Given the description of an element on the screen output the (x, y) to click on. 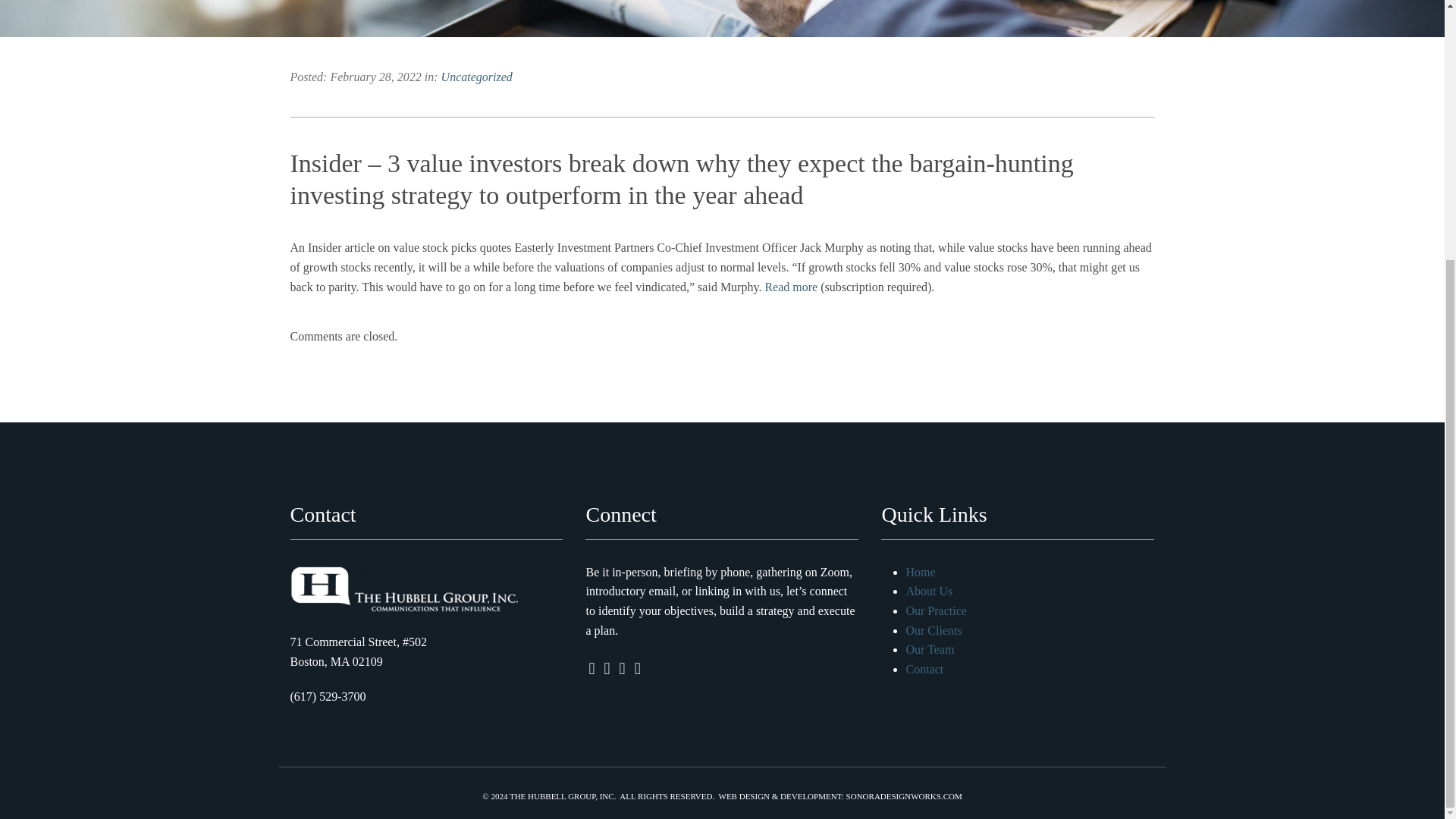
Our Clients (932, 630)
Read more (790, 286)
Contact (924, 668)
Home (919, 571)
Uncategorized (476, 76)
About Us (928, 590)
Our Practice (935, 610)
Our Team (929, 649)
